Given the description of an element on the screen output the (x, y) to click on. 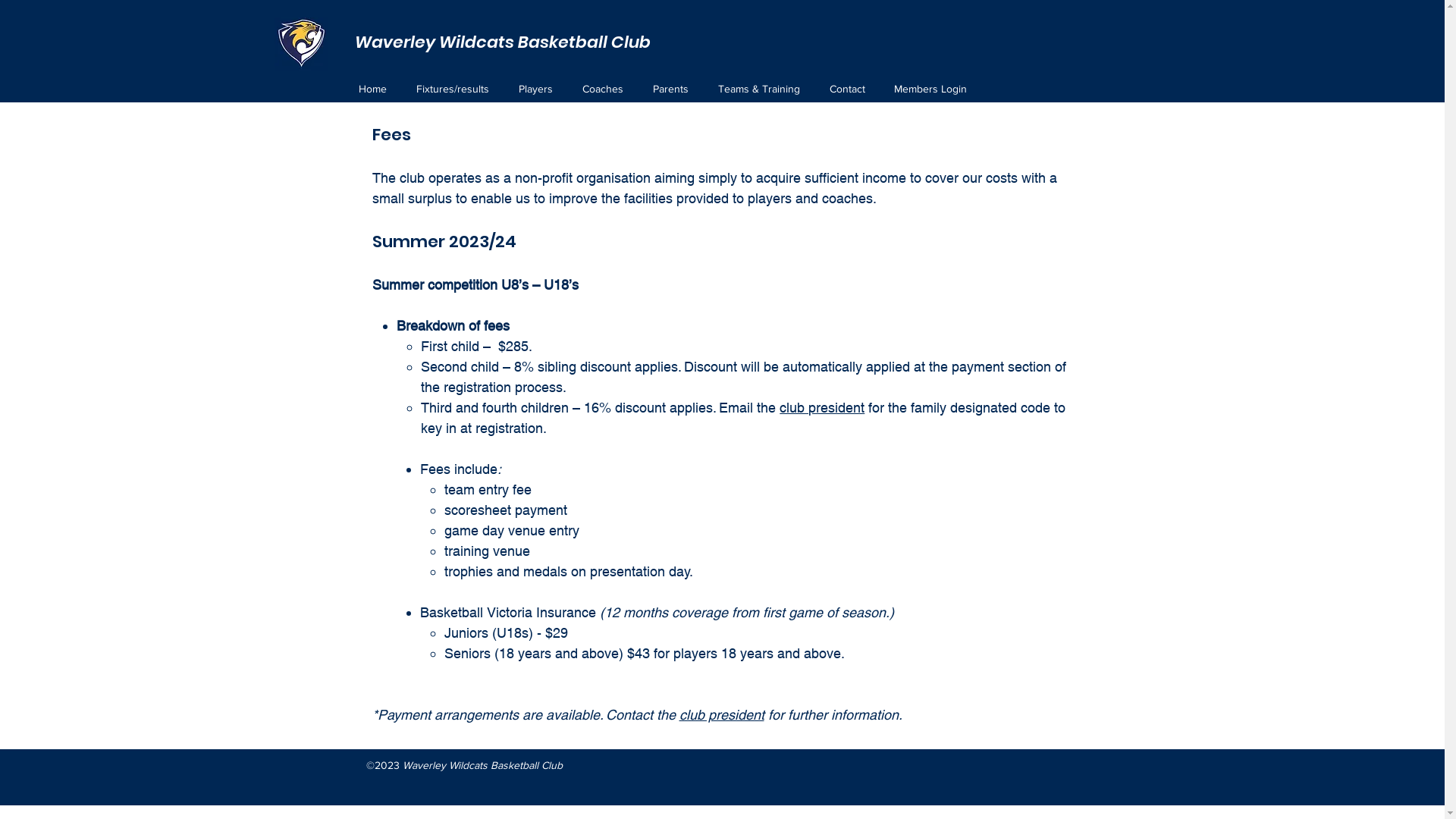
Waverley Wildcats Basketball Club Element type: text (502, 41)
Members Login Element type: text (936, 88)
Contact Element type: text (854, 88)
club president Element type: text (721, 714)
Fixtures/results Element type: text (458, 88)
club president Element type: text (821, 407)
Home Element type: text (378, 88)
